Given the description of an element on the screen output the (x, y) to click on. 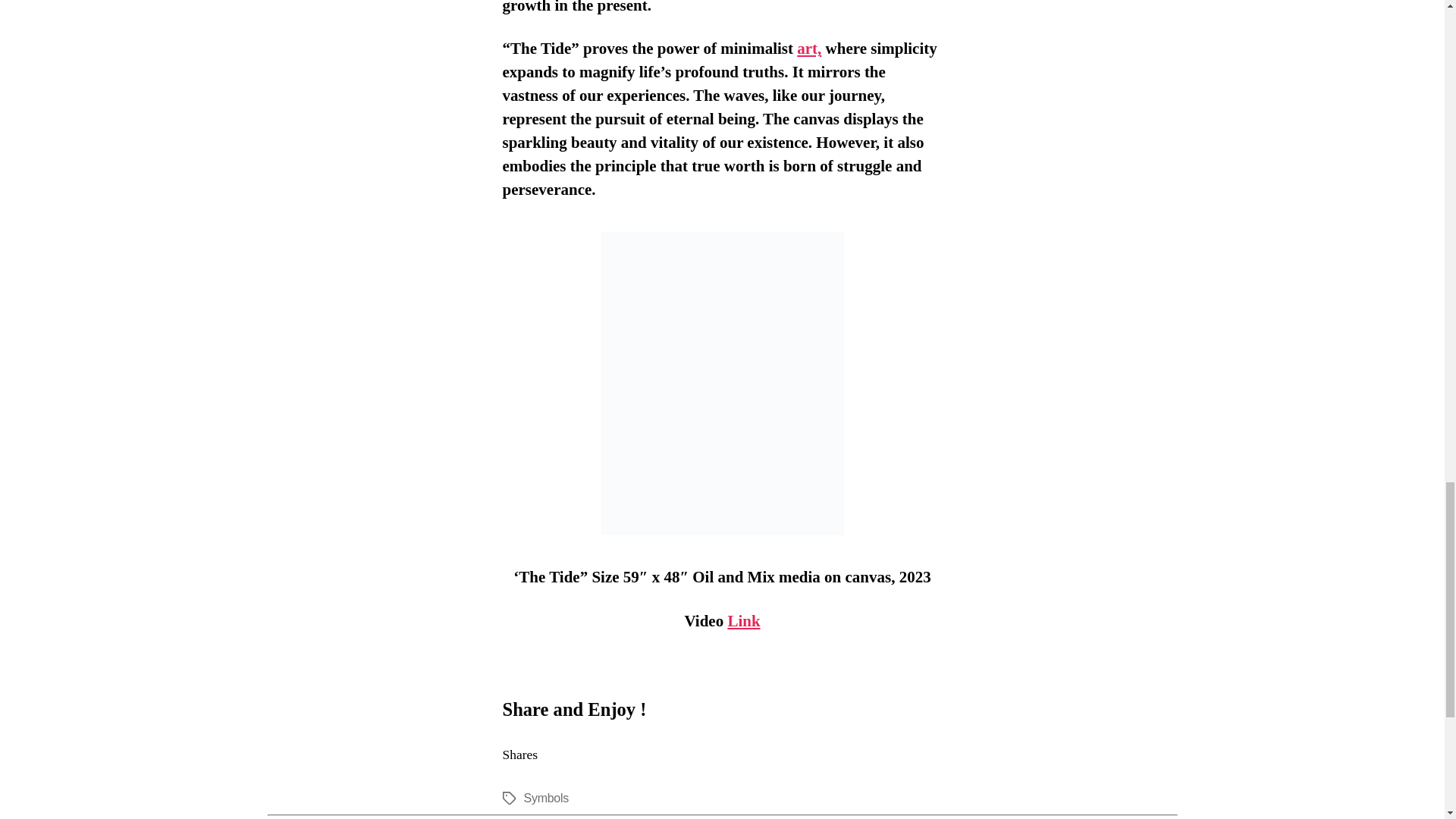
art, (808, 48)
Link (743, 620)
Symbols (544, 797)
